Given the description of an element on the screen output the (x, y) to click on. 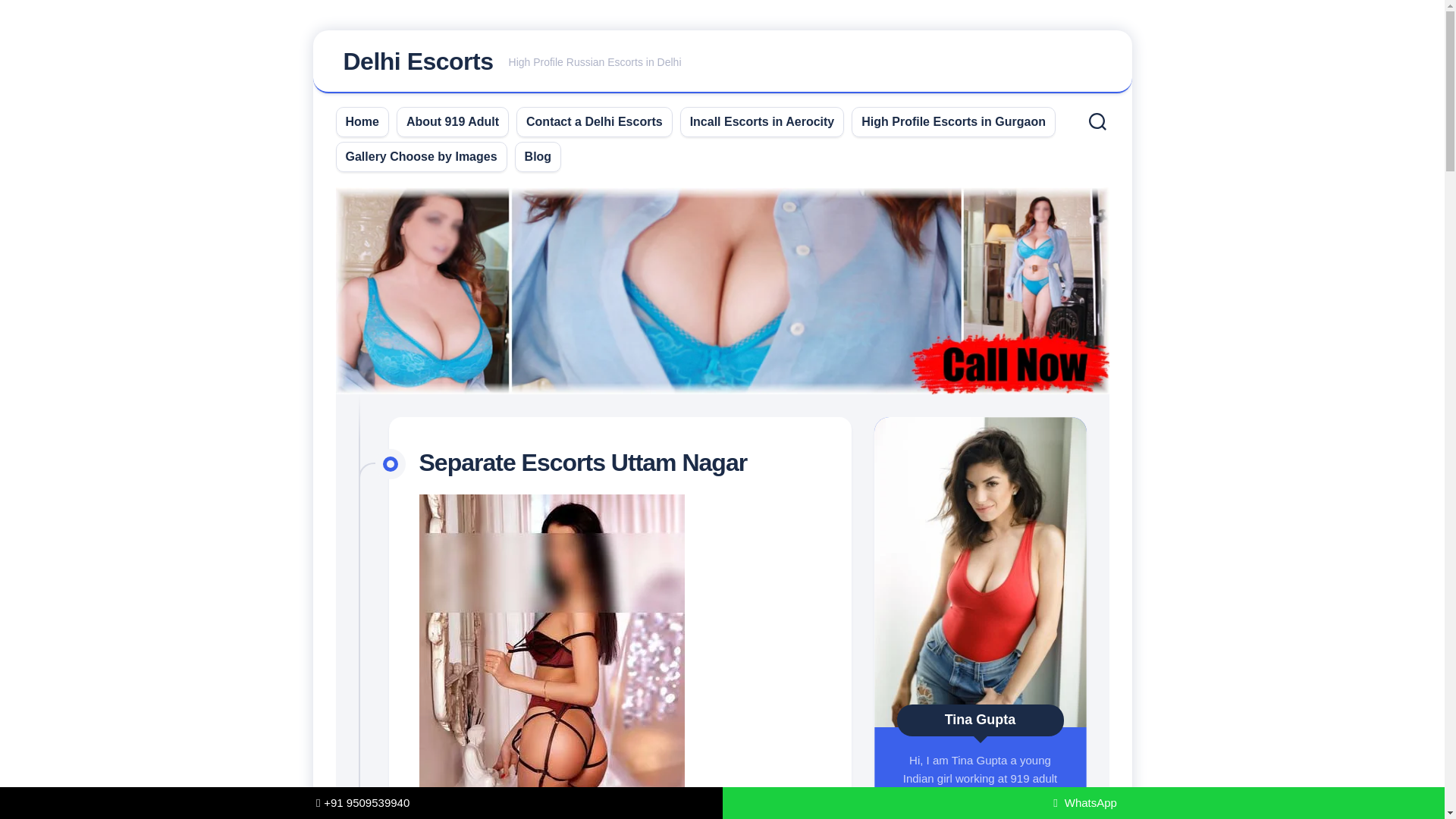
Home (722, 62)
Contact a Delhi Escorts (362, 121)
Incall Escorts in Aerocity (593, 121)
Delhi Escorts (762, 121)
Gallery Choose by Images (417, 61)
High Profile Escorts in Gurgaon (421, 156)
About 919 Adult (953, 121)
Blog (452, 121)
